Given the description of an element on the screen output the (x, y) to click on. 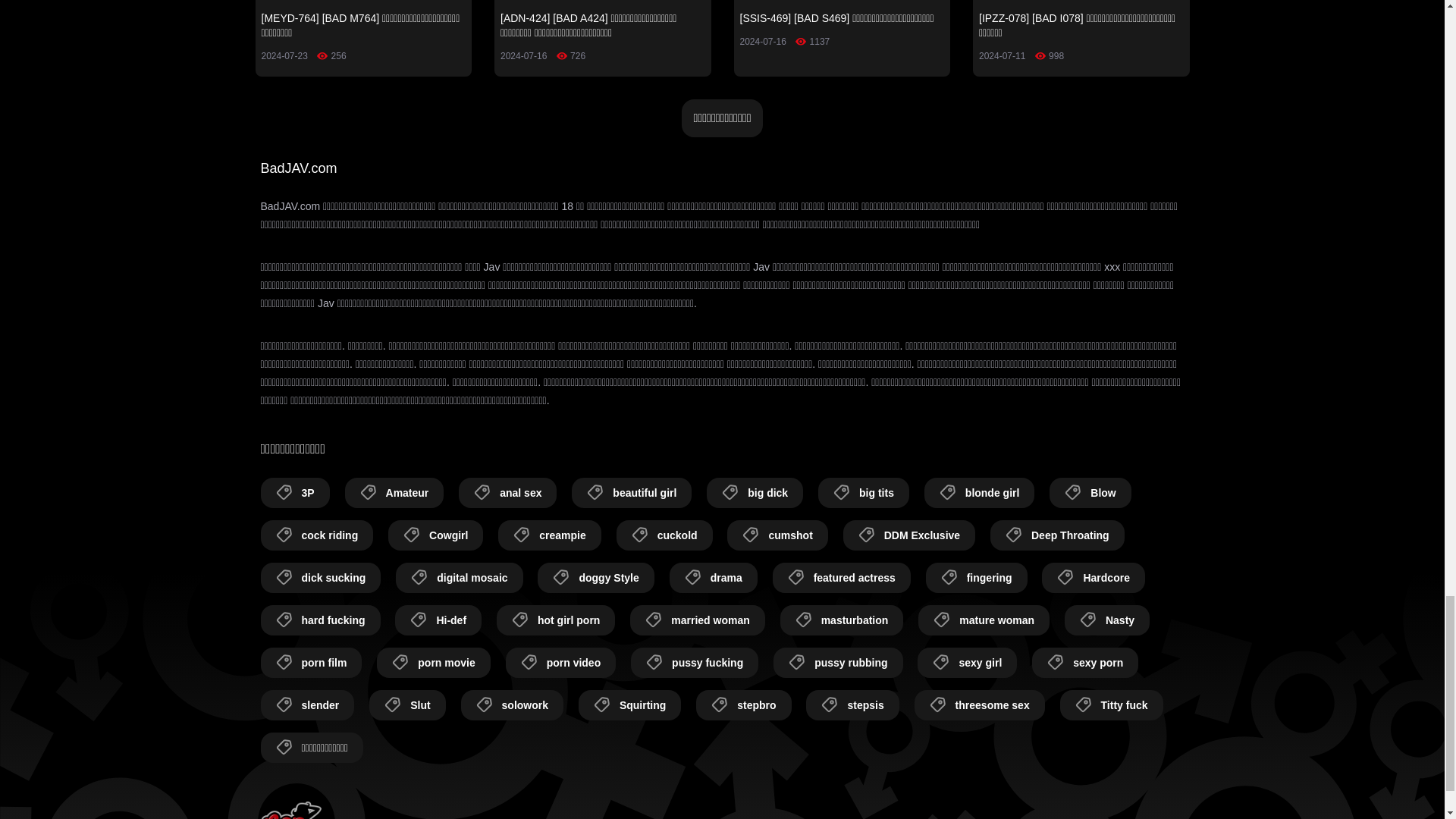
anal sex (507, 492)
big tits (863, 492)
beautiful girl (631, 492)
blonde girl (979, 492)
Blow (1090, 492)
cock riding (317, 535)
3P (295, 492)
Badjav.com (290, 809)
big dick (754, 492)
Cowgirl (435, 535)
Amateur (394, 492)
